Given the description of an element on the screen output the (x, y) to click on. 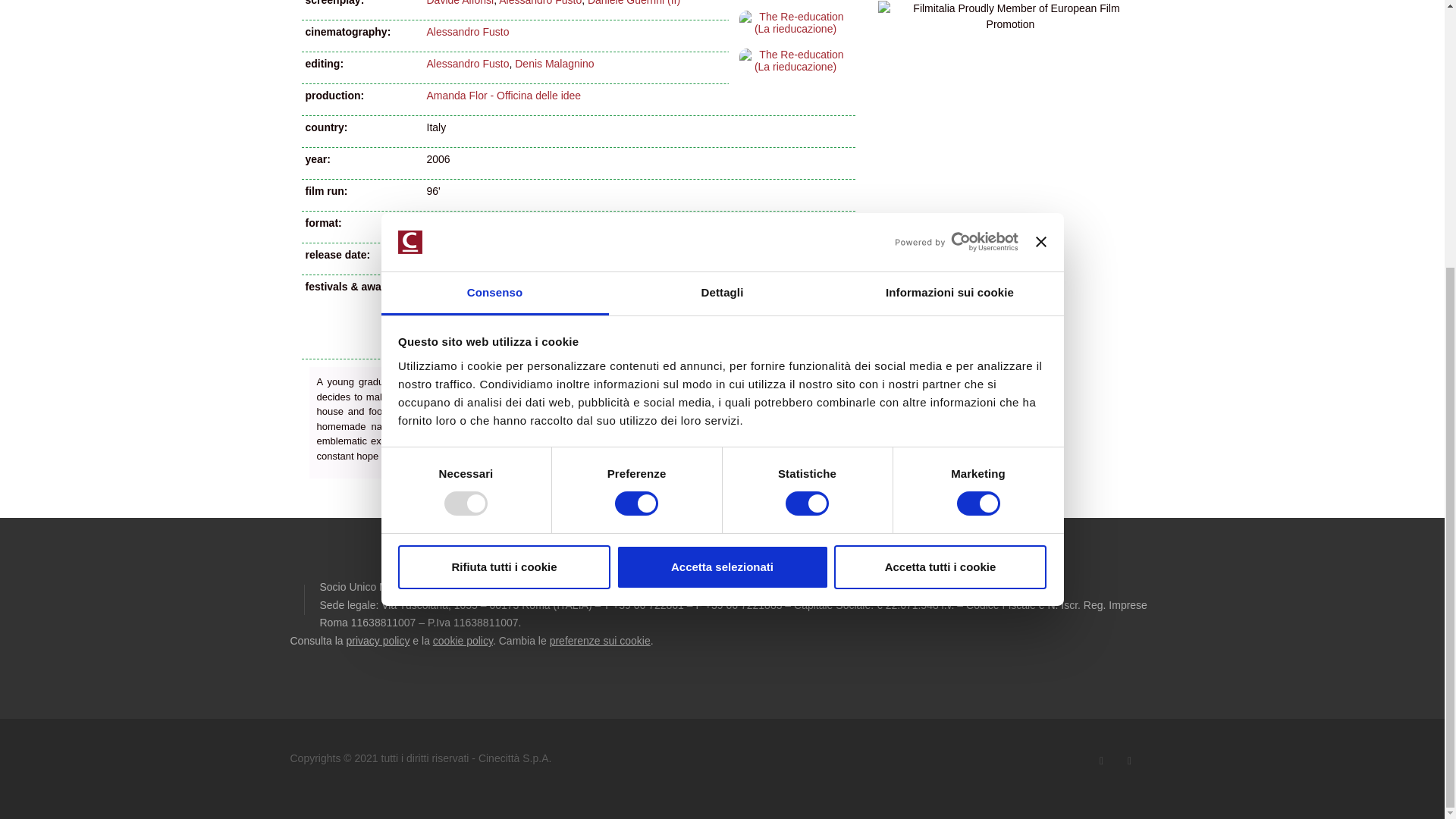
share on twitter (813, 500)
share on facebook (712, 500)
print this page (618, 500)
share by email (531, 500)
